Given the description of an element on the screen output the (x, y) to click on. 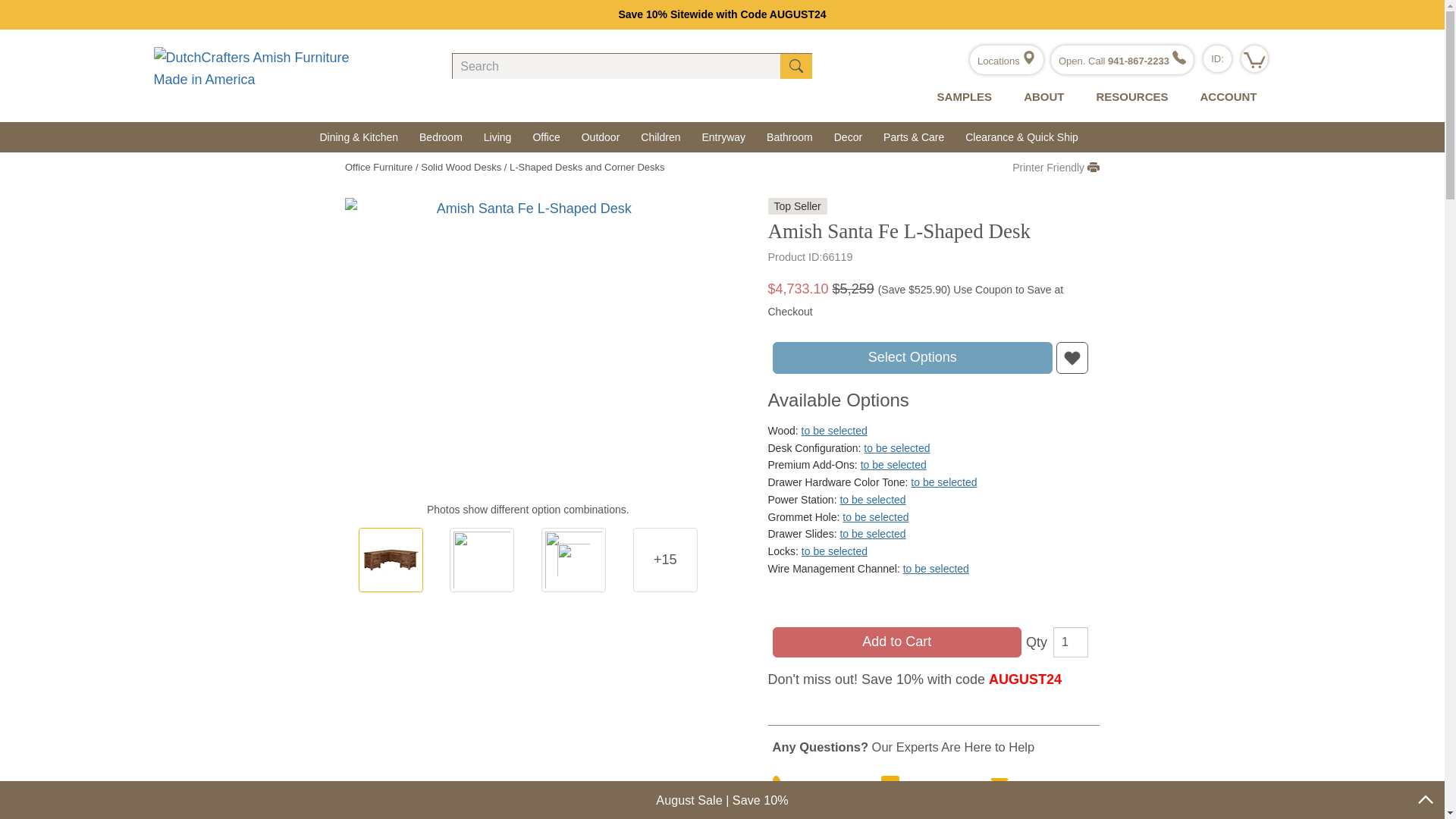
ABOUT (1039, 96)
1 (1069, 642)
Open. Call 941-867-2233 (1122, 60)
SAMPLES (961, 96)
RESOURCES (1128, 96)
ACCOUNT (1224, 96)
Locations (1005, 60)
